Given the description of an element on the screen output the (x, y) to click on. 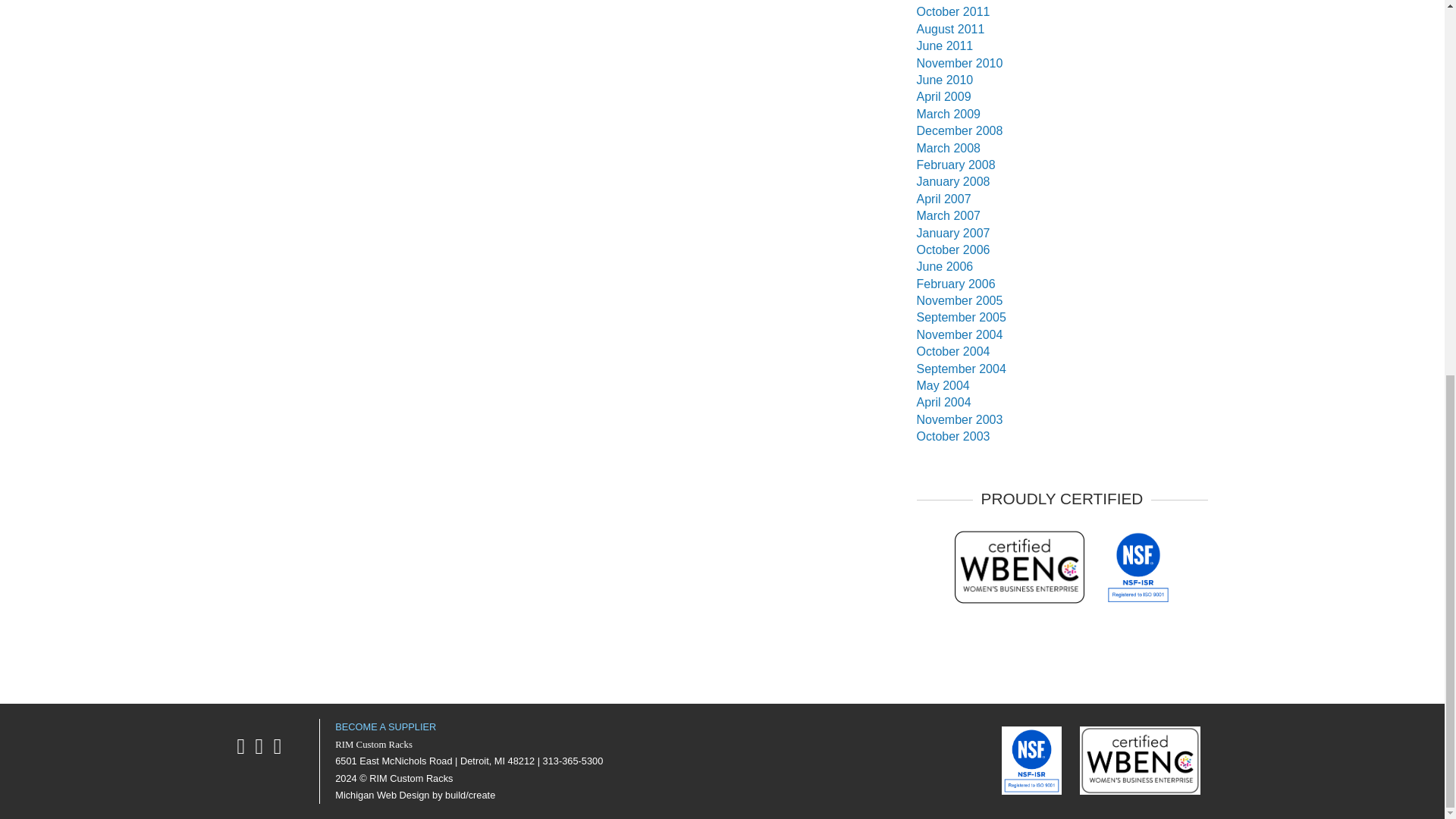
April 2009 (943, 96)
June 2010 (943, 79)
November 2010 (959, 62)
August 2011 (949, 29)
Michigan Web Design (381, 794)
Michigan Web Design Company (470, 794)
Contact Us (384, 726)
December 2011 (959, 0)
June 2011 (943, 45)
October 2011 (952, 11)
